Given the description of an element on the screen output the (x, y) to click on. 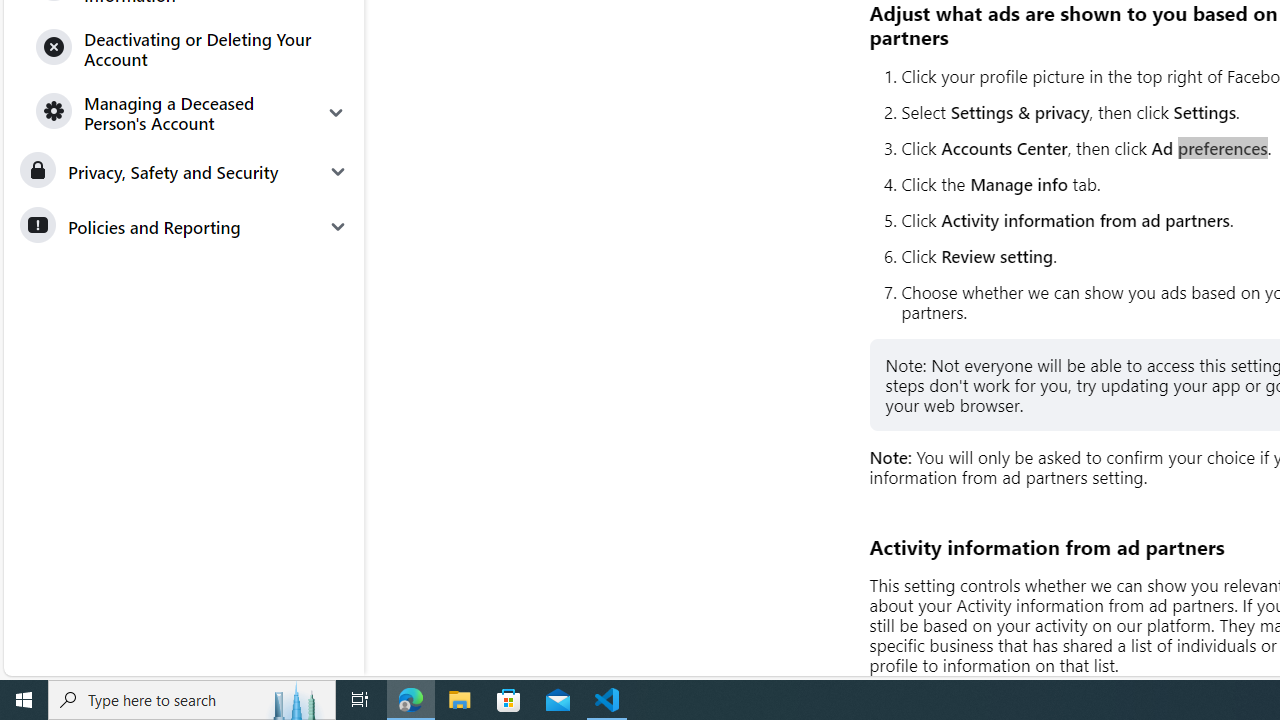
Deactivating or Deleting Your Account (191, 47)
Managing a Deceased Person's Account Expand (191, 111)
Managing a Deceased Person's Account (191, 111)
Privacy, Safety and Security (183, 171)
Deactivating or Deleting Your Account (191, 47)
Policies and Reporting (183, 226)
Expand (335, 112)
